Given the description of an element on the screen output the (x, y) to click on. 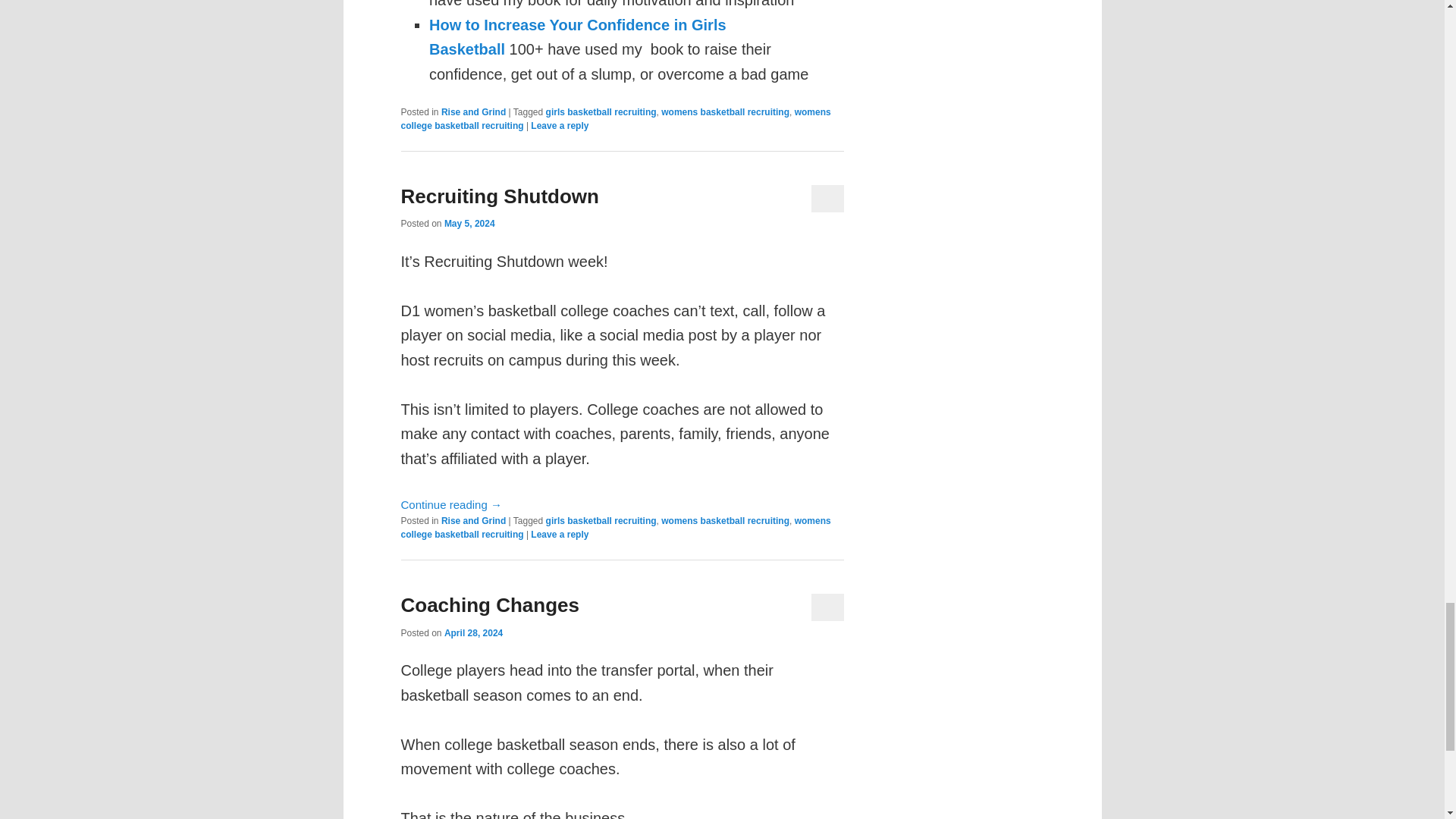
girls basketball recruiting (601, 112)
May 5, 2024 (469, 223)
Leave a reply (559, 125)
Recruiting Shutdown (499, 196)
7:30 pm (473, 633)
7:24 pm (469, 223)
How to Increase Your Confidence in Girls Basketball (577, 37)
Rise and Grind (473, 520)
womens college basketball recruiting (614, 119)
womens basketball recruiting (725, 112)
girls basketball recruiting (601, 520)
Rise and Grind (473, 112)
